Given the description of an element on the screen output the (x, y) to click on. 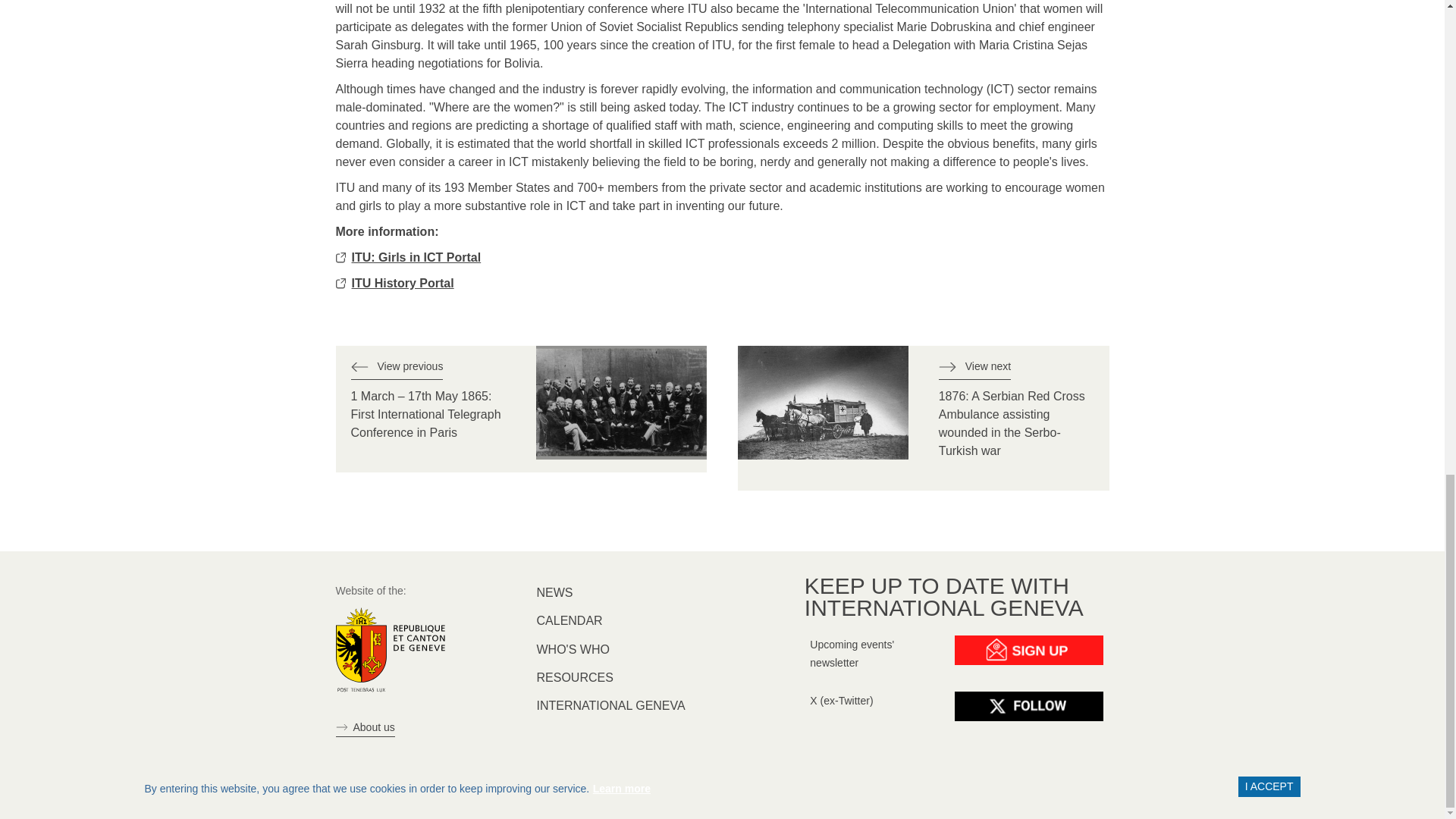
About us (364, 727)
